Given the description of an element on the screen output the (x, y) to click on. 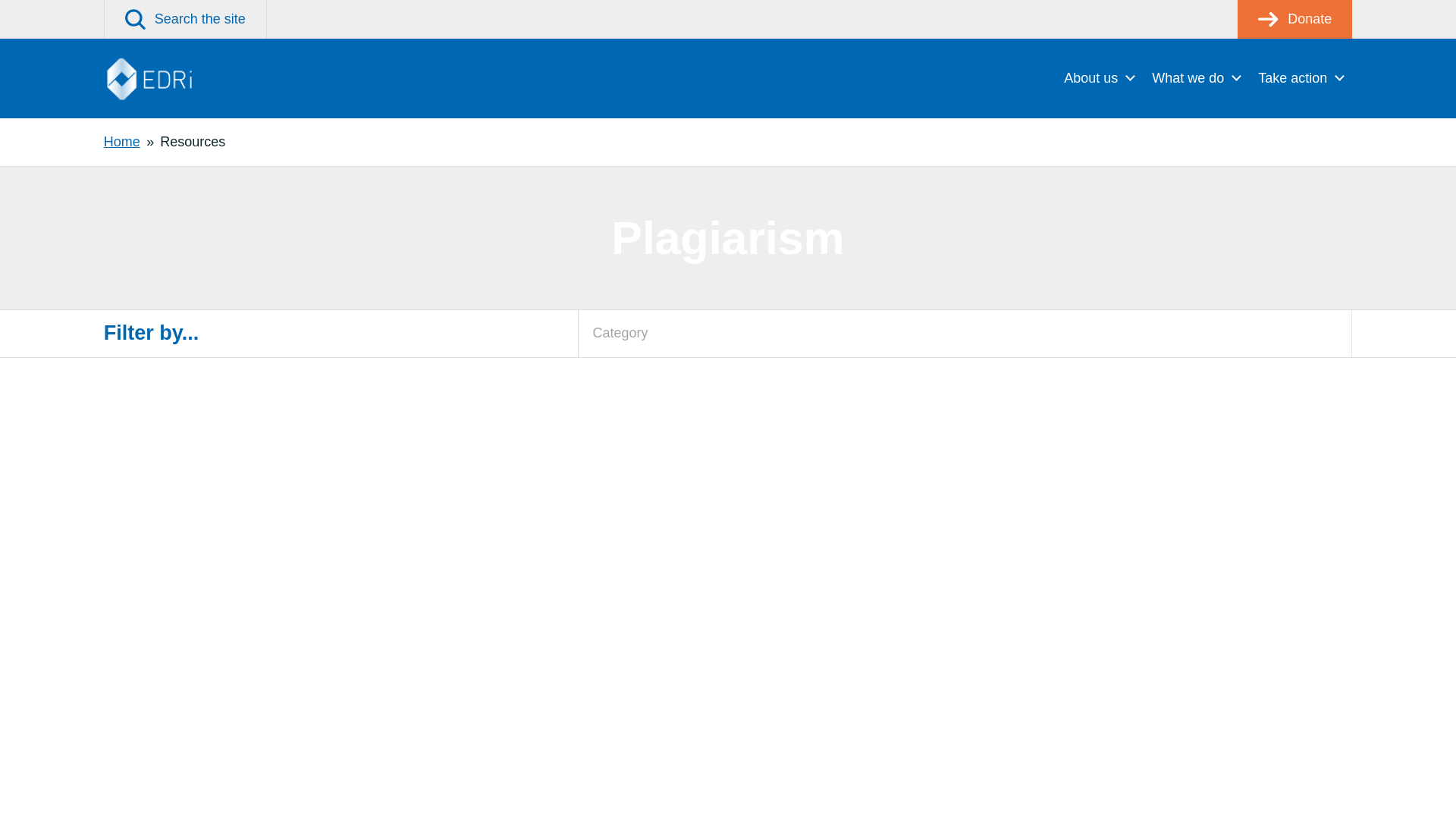
What we do (1195, 77)
Donate (1294, 19)
Take action (1300, 77)
About us (1098, 77)
Search the site (184, 19)
